Given the description of an element on the screen output the (x, y) to click on. 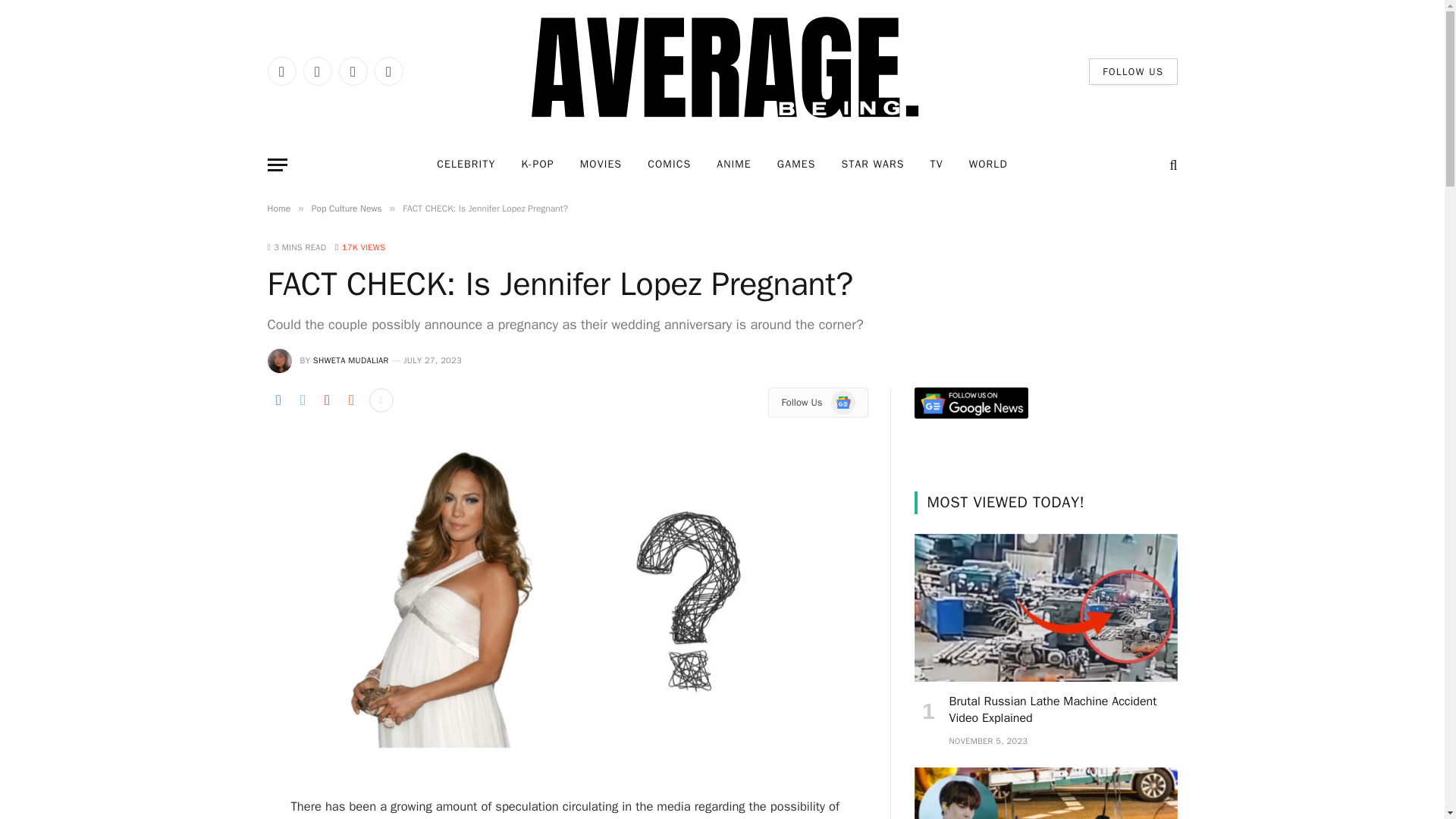
GAMES (796, 164)
Home (277, 208)
ANIME (733, 164)
WORLD (988, 164)
K-POP (537, 164)
Share on Facebook (277, 400)
Instagram (351, 70)
Averagebeing (721, 71)
MOVIES (600, 164)
FOLLOW US (1132, 70)
